Given the description of an element on the screen output the (x, y) to click on. 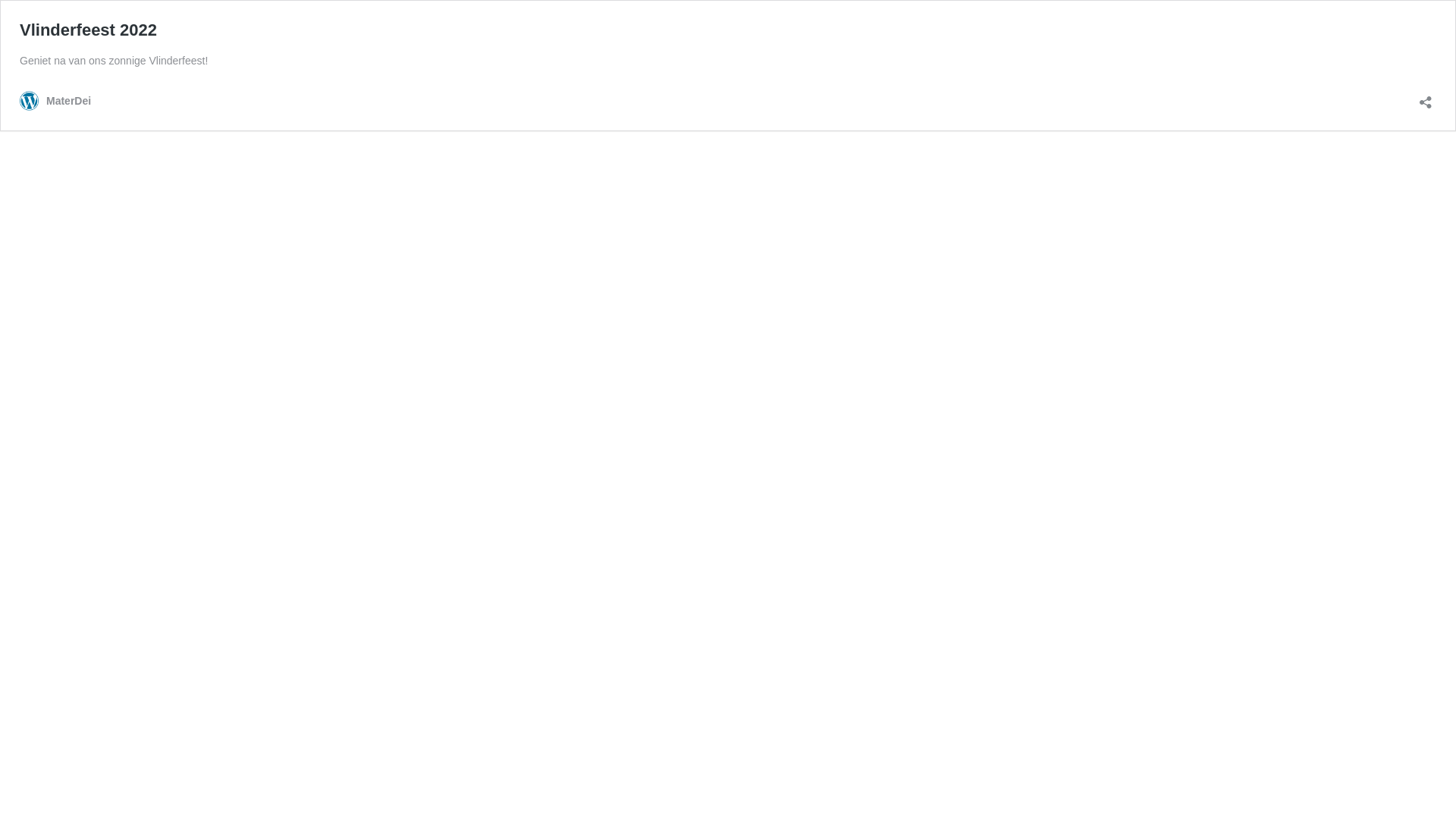
MaterDei Element type: text (55, 100)
Vlinderfeest 2022 Element type: text (87, 29)
